Given the description of an element on the screen output the (x, y) to click on. 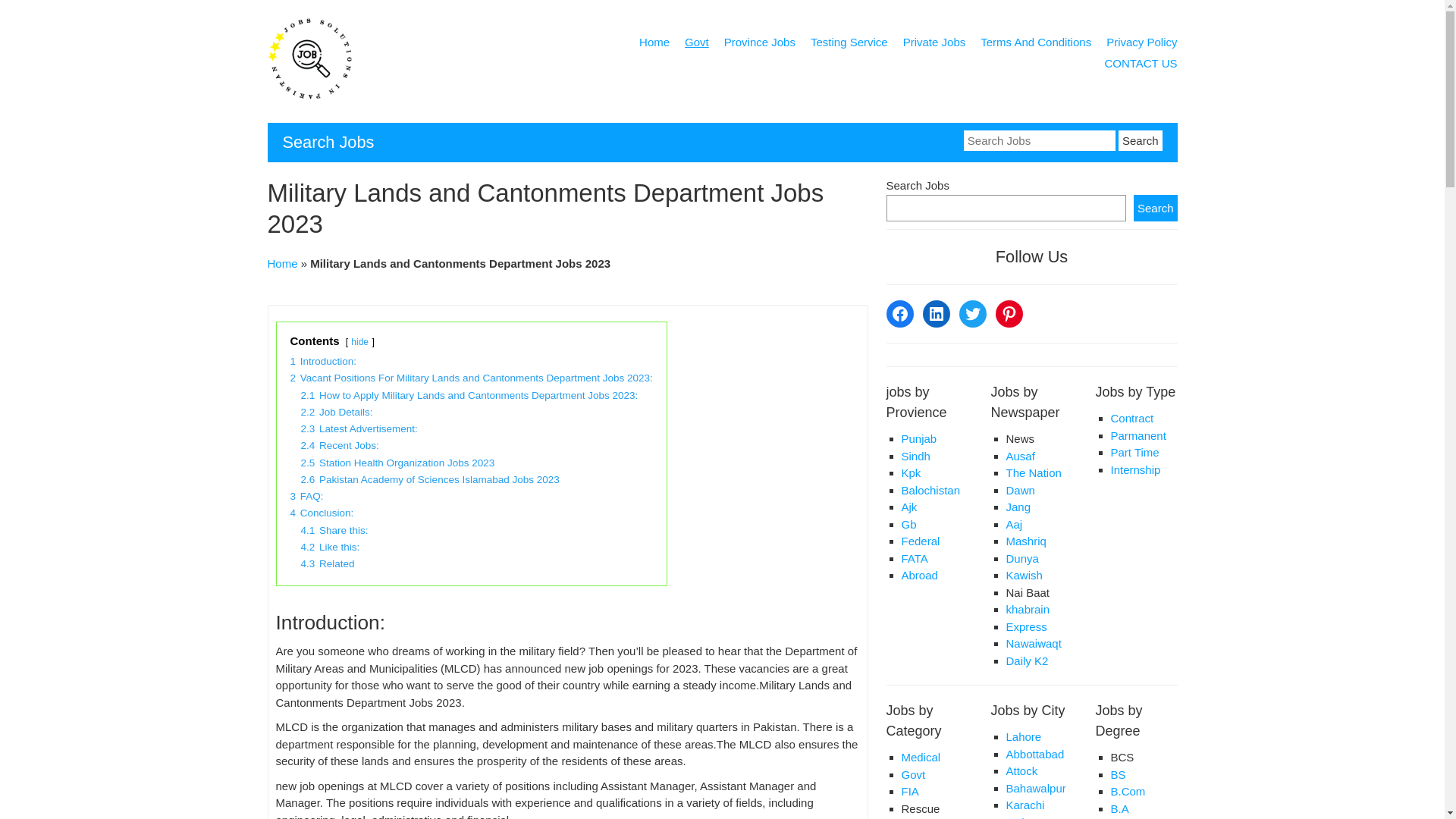
Home (654, 44)
Search (1139, 140)
Province Jobs (758, 44)
Search (1139, 140)
Govt (696, 44)
Job Solutions (309, 97)
